Given the description of an element on the screen output the (x, y) to click on. 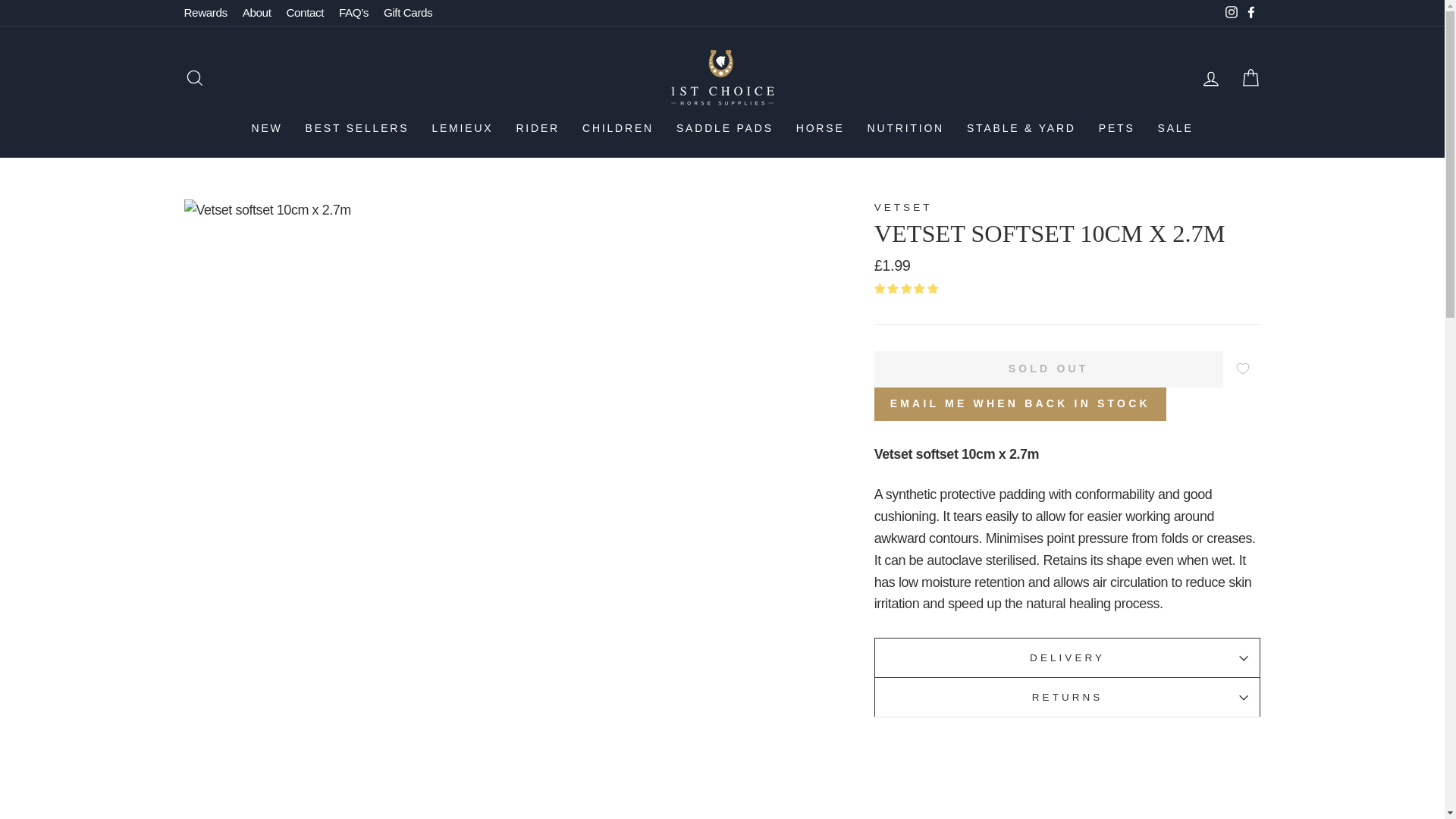
Vetset (904, 206)
Add to Wishlist (1244, 368)
